Given the description of an element on the screen output the (x, y) to click on. 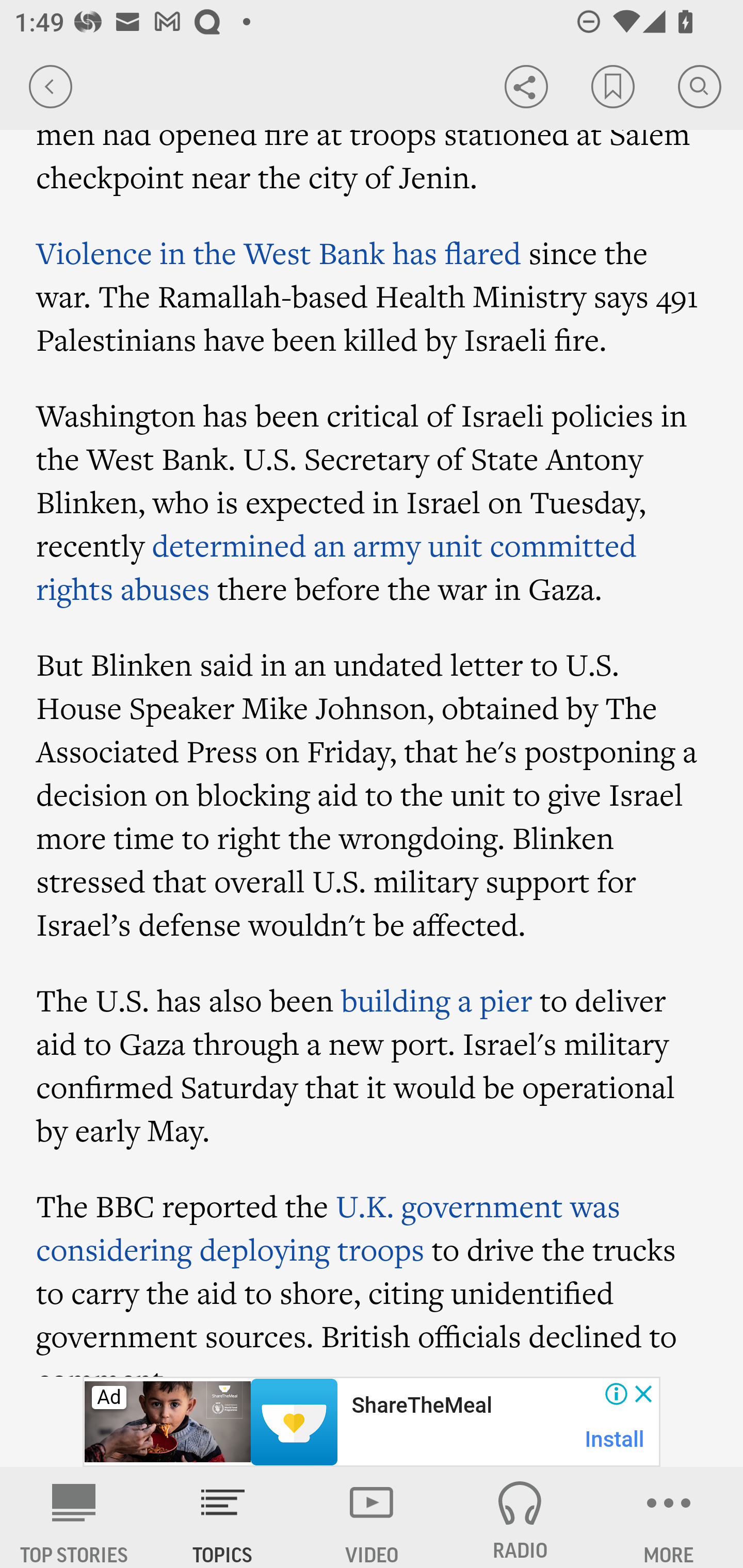
Violence in the West Bank has flared (278, 252)
determined an army unit committed rights abuses (336, 566)
building a pier (435, 1000)
U.K. government was considering deploying troops (328, 1227)
ShareTheMeal (420, 1405)
Install (614, 1438)
AP News TOP STORIES (74, 1517)
TOPICS (222, 1517)
VIDEO (371, 1517)
RADIO (519, 1517)
MORE (668, 1517)
